Given the description of an element on the screen output the (x, y) to click on. 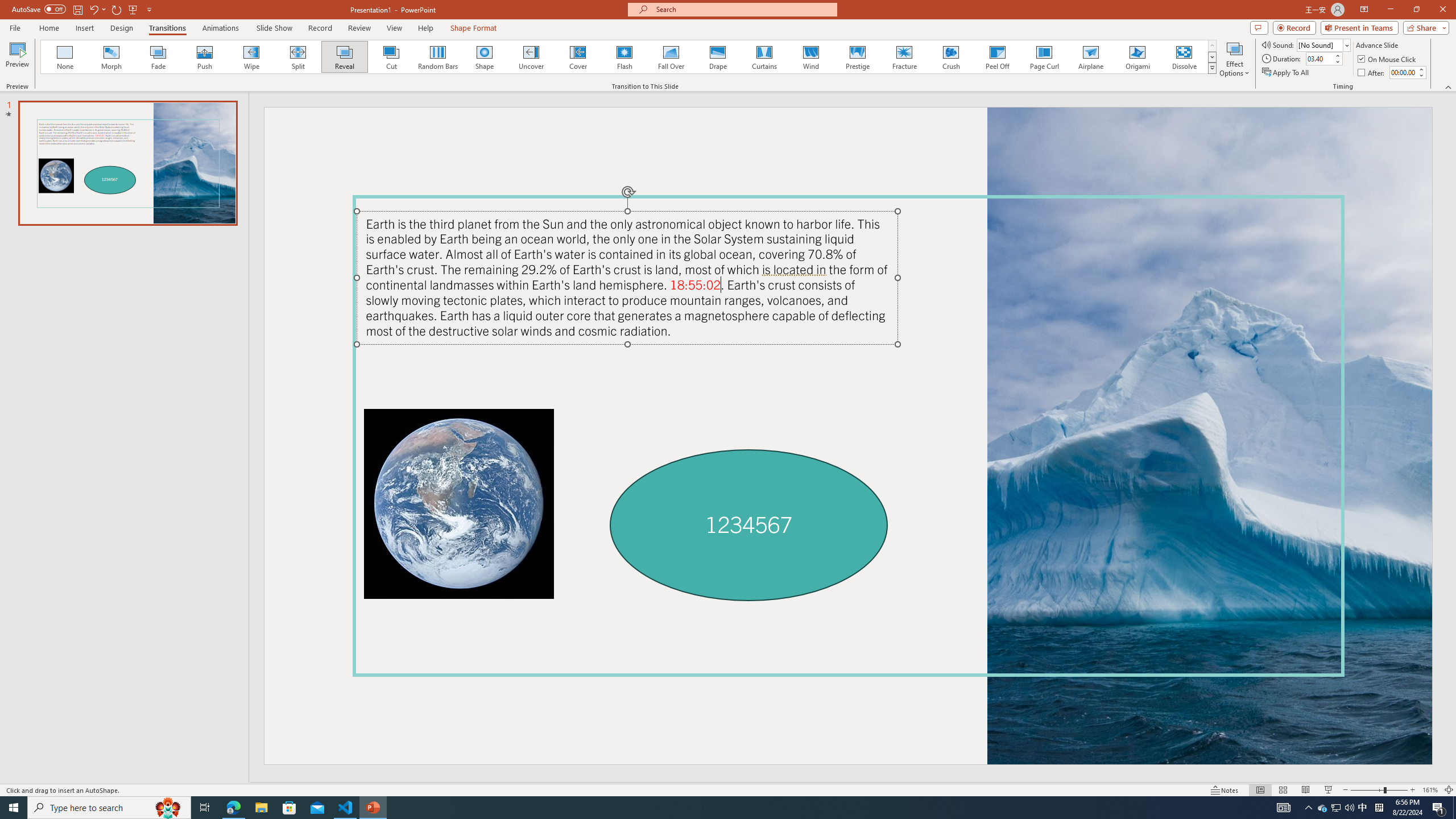
Origami (1136, 56)
Peel Off (997, 56)
Curtains (764, 56)
Transition Effects (1212, 67)
After (1403, 72)
